Given the description of an element on the screen output the (x, y) to click on. 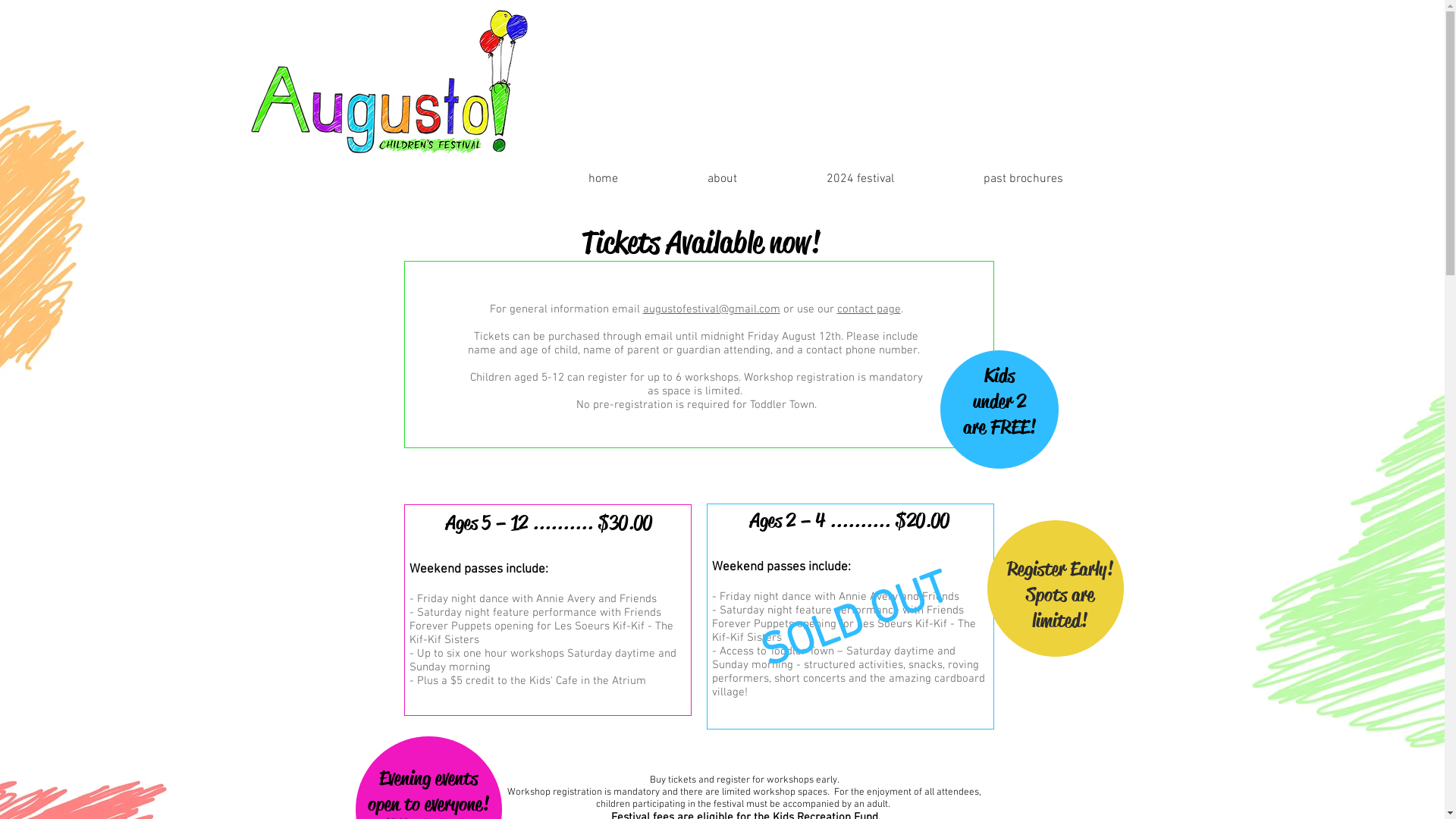
augustofestival@gmail.com Element type: text (711, 309)
2024 festival Element type: text (825, 179)
about Element type: text (688, 179)
home Element type: text (569, 179)
past brochures Element type: text (989, 179)
contact page Element type: text (868, 309)
